Given the description of an element on the screen output the (x, y) to click on. 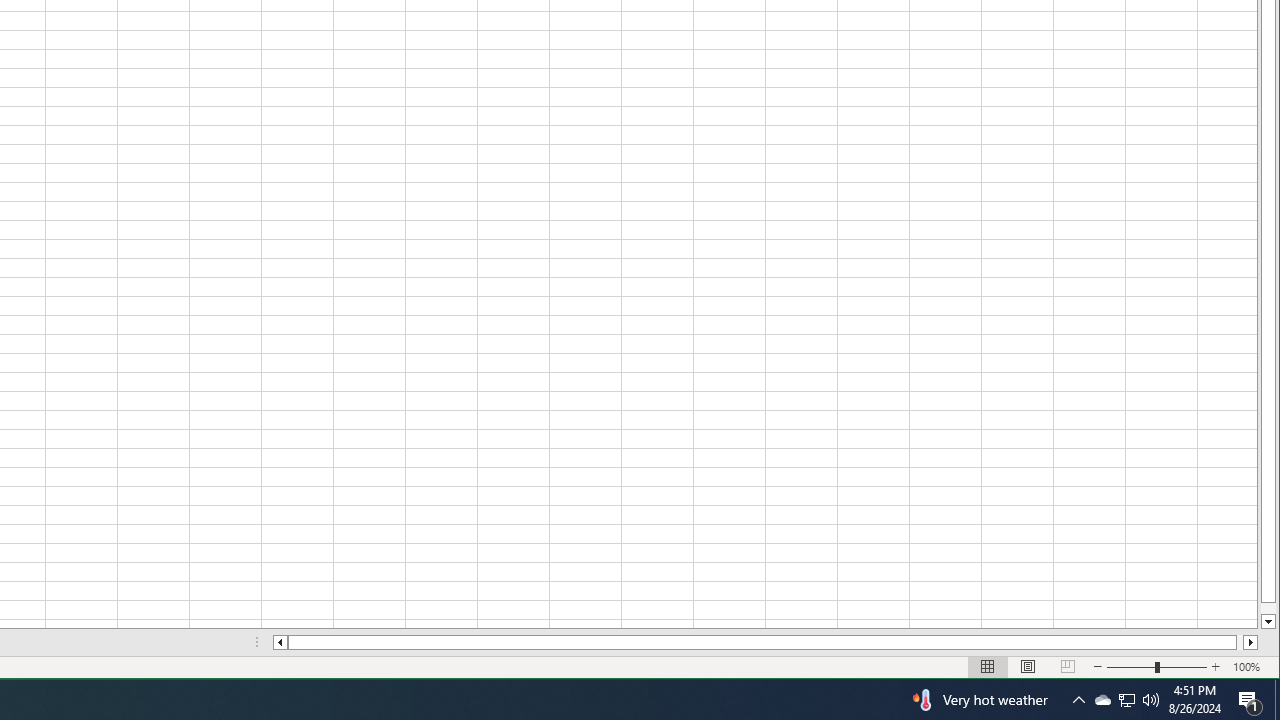
Very hot weather (978, 699)
Action Center, 1 new notification (1250, 699)
